Given the description of an element on the screen output the (x, y) to click on. 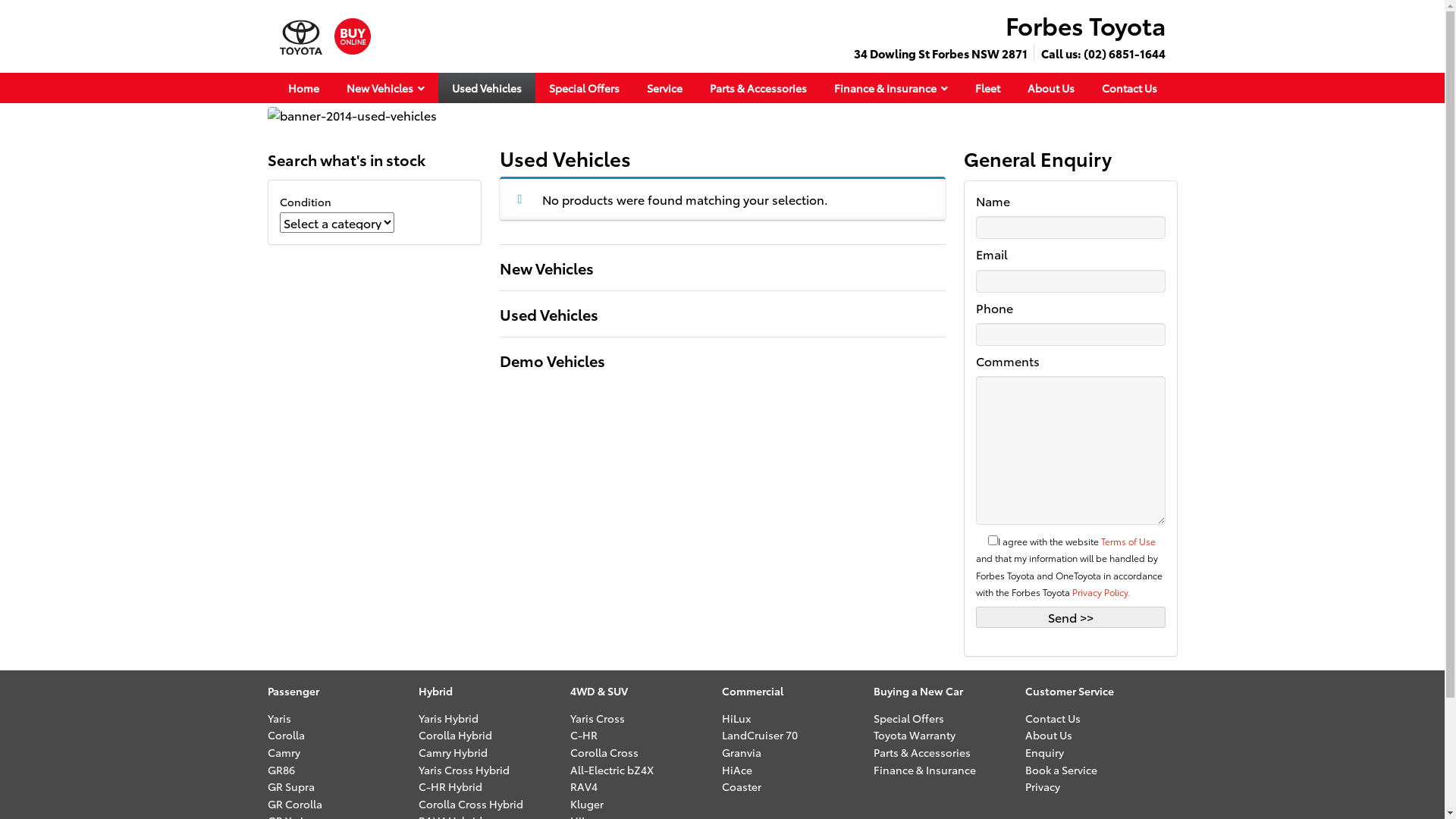
About Us Element type: text (1050, 87)
Send >> Element type: text (1069, 616)
Terms of Use Element type: text (1128, 540)
Camry Element type: text (282, 751)
Corolla Cross Hybrid Element type: text (470, 803)
Kluger Element type: text (586, 803)
New Vehicles Element type: text (384, 87)
Yaris Hybrid Element type: text (448, 717)
HiAce Element type: text (736, 769)
Coaster Element type: text (741, 785)
Toyota Warranty Element type: text (914, 734)
(02) 6851-1644 Element type: text (1123, 52)
Granvia Element type: text (741, 751)
Privacy Element type: text (1042, 785)
Contact Us Element type: text (1052, 717)
Service Element type: text (663, 87)
Corolla Element type: text (285, 734)
Parts & Accessories Element type: text (758, 87)
Corolla Hybrid Element type: text (455, 734)
About Us Element type: text (1048, 734)
Special Offers Element type: text (908, 717)
Contact Us Element type: text (1128, 87)
GR86 Element type: text (280, 769)
C-HR Element type: text (583, 734)
Enquiry Element type: text (1044, 751)
Yaris Element type: text (278, 717)
Fleet Element type: text (987, 87)
Yaris Cross Hybrid Element type: text (463, 769)
HiLux Element type: text (735, 717)
C-HR Hybrid Element type: text (450, 785)
Camry Hybrid Element type: text (452, 751)
GR Supra Element type: text (289, 785)
Parts & Accessories Element type: text (921, 751)
RAV4 Element type: text (583, 785)
Book a Service Element type: text (1061, 769)
Corolla Cross Element type: text (604, 751)
LandCruiser 70 Element type: text (759, 734)
All-Electric bZ4X Element type: text (611, 769)
Special Offers Element type: text (584, 87)
Finance & Insurance Element type: text (890, 87)
Yaris Cross Element type: text (597, 717)
GR Corolla Element type: text (293, 803)
Used Vehicles Element type: text (486, 87)
Home Element type: text (303, 87)
Finance & Insurance Element type: text (924, 769)
Privacy Policy. Element type: text (1100, 591)
